Given the description of an element on the screen output the (x, y) to click on. 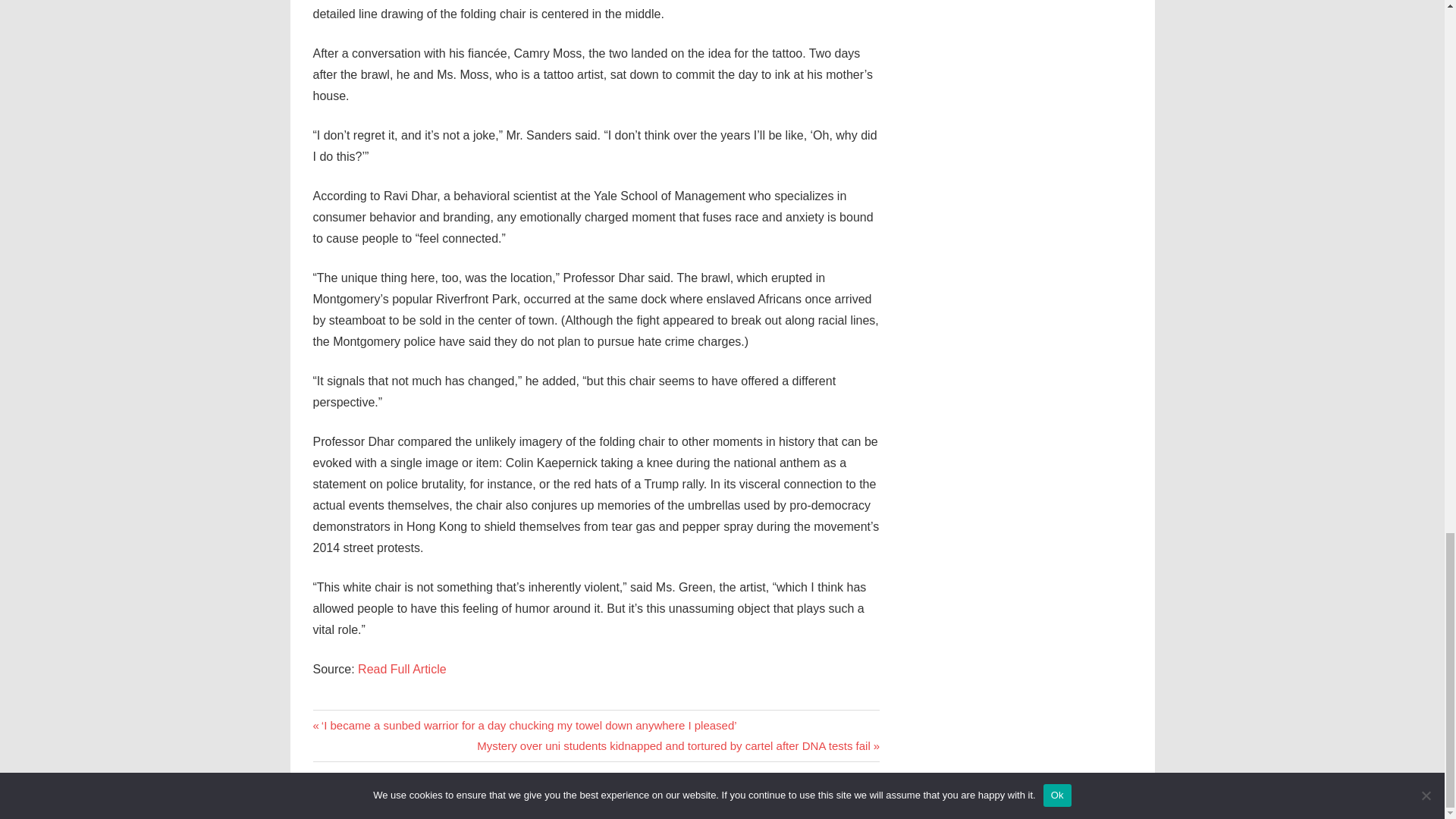
Read Full Article (402, 668)
